Given the description of an element on the screen output the (x, y) to click on. 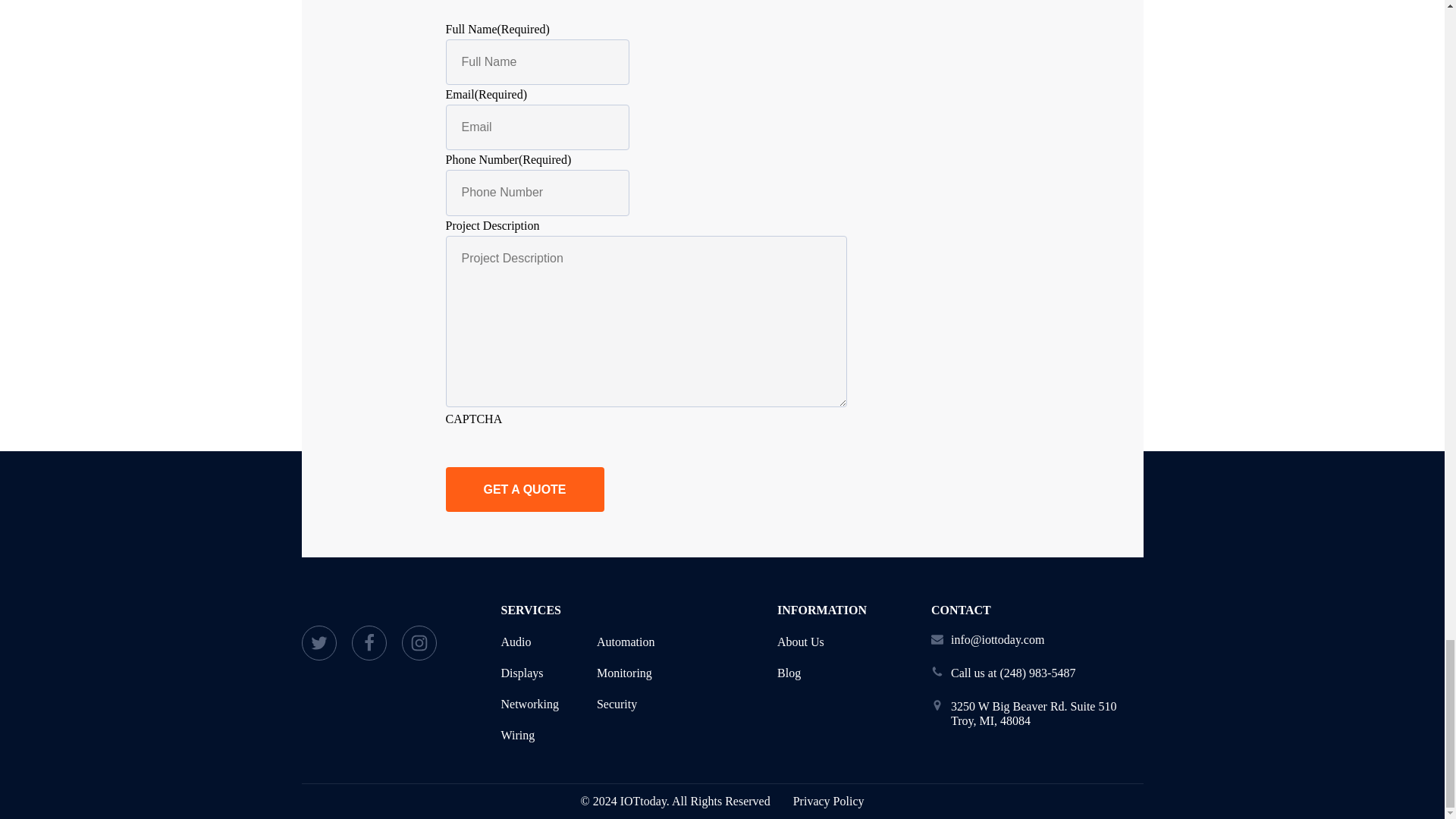
Get a Quote (524, 488)
Networking (528, 704)
Get a Quote (524, 488)
Audio (528, 641)
Blog (800, 673)
Privacy Policy (828, 801)
About Us (800, 641)
Wiring (528, 735)
Security (624, 704)
Monitoring (624, 673)
Displays (528, 673)
Automation (624, 641)
